Given the description of an element on the screen output the (x, y) to click on. 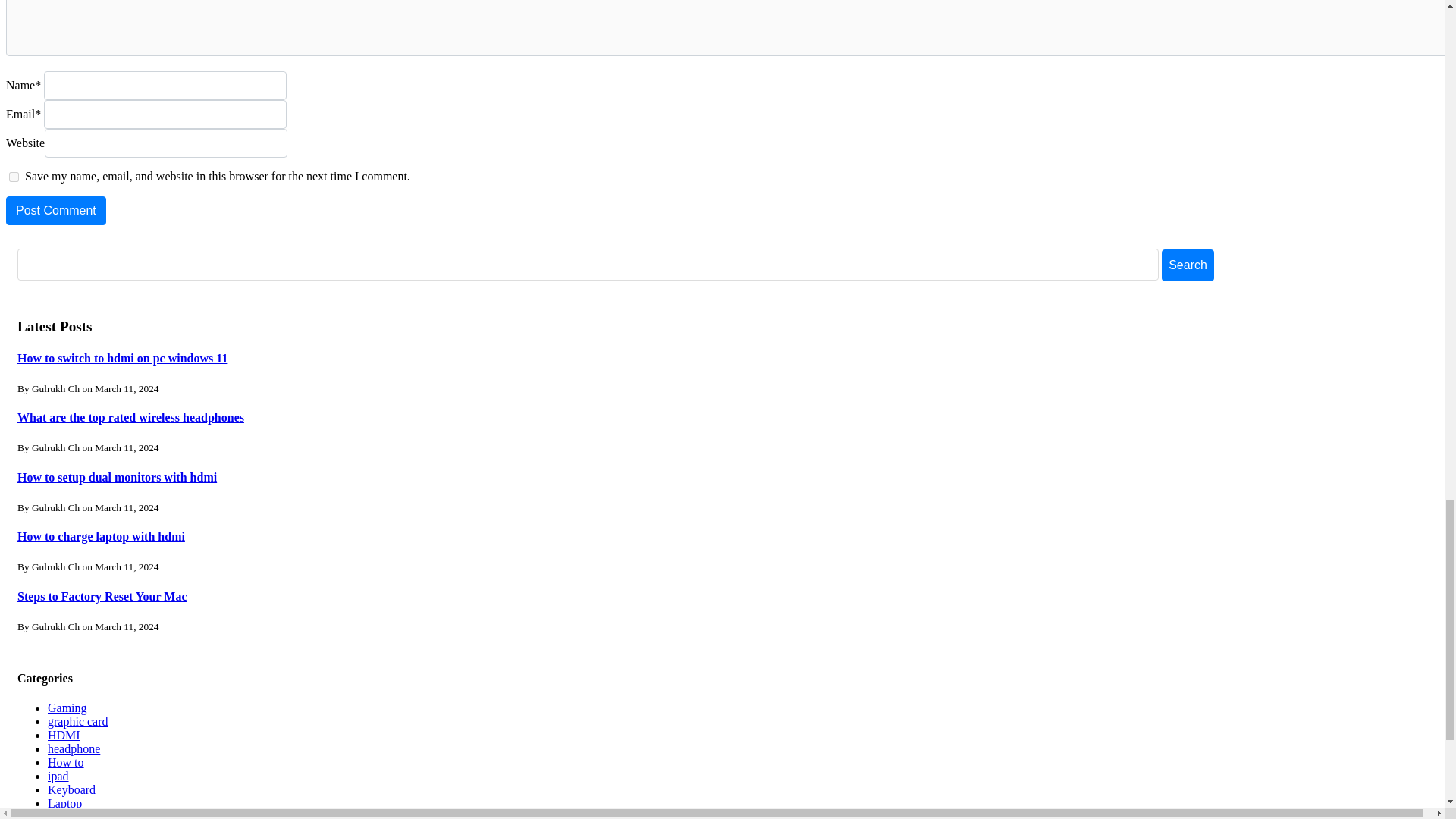
Post Comment (55, 210)
ipad (58, 775)
Laptop (64, 802)
yes (13, 176)
How to setup dual monitors with hdmi (116, 477)
headphone (74, 748)
How to switch to hdmi on pc windows 11 (122, 358)
Keyboard (72, 789)
How to charge laptop with hdmi (100, 535)
Gaming (67, 707)
MAC (61, 814)
Search (1187, 265)
How to (66, 762)
graphic card (77, 721)
Search (1187, 265)
